Given the description of an element on the screen output the (x, y) to click on. 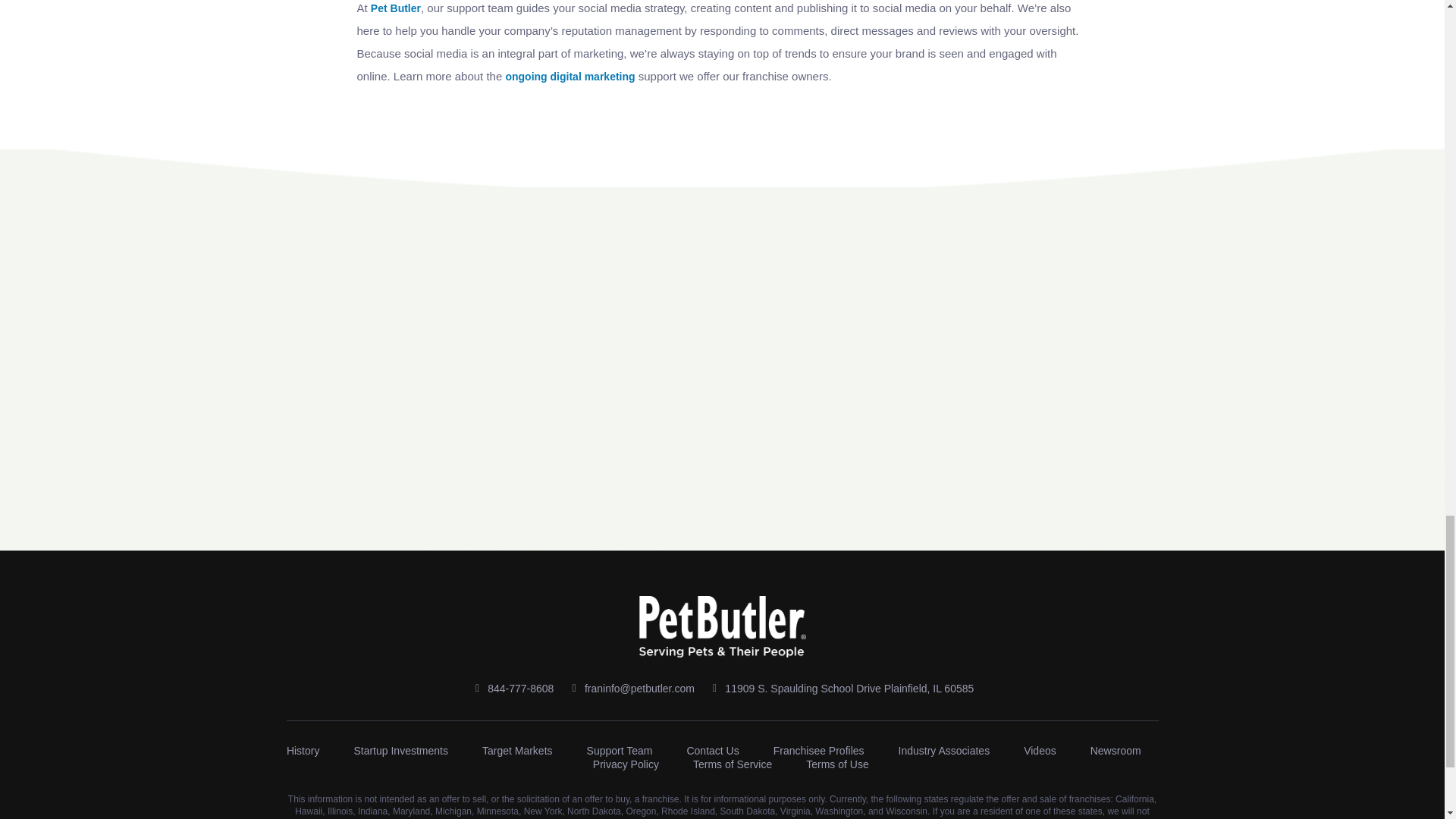
ongoing digital marketing (569, 182)
Startup Investments (400, 750)
Videos (1040, 750)
Newsroom (1115, 750)
Franchisee Profiles (818, 750)
History (303, 750)
844-777-8608 (512, 688)
Pet Butler (395, 134)
Contact Us (711, 750)
Support Team (619, 750)
